Given the description of an element on the screen output the (x, y) to click on. 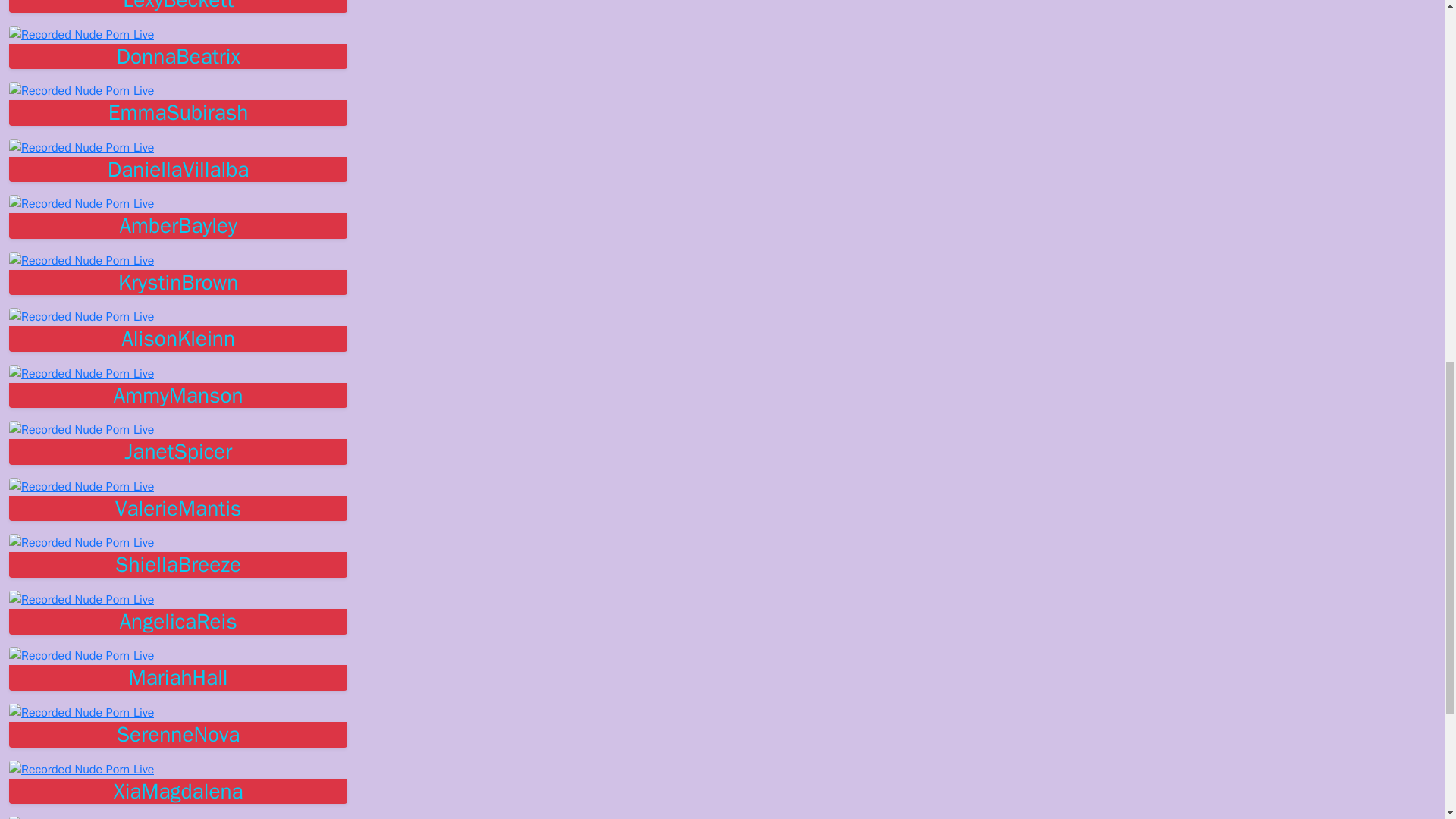
LexyBeckett (177, 6)
EmmaSubirash (177, 112)
DonnaBeatrix (177, 56)
